Given the description of an element on the screen output the (x, y) to click on. 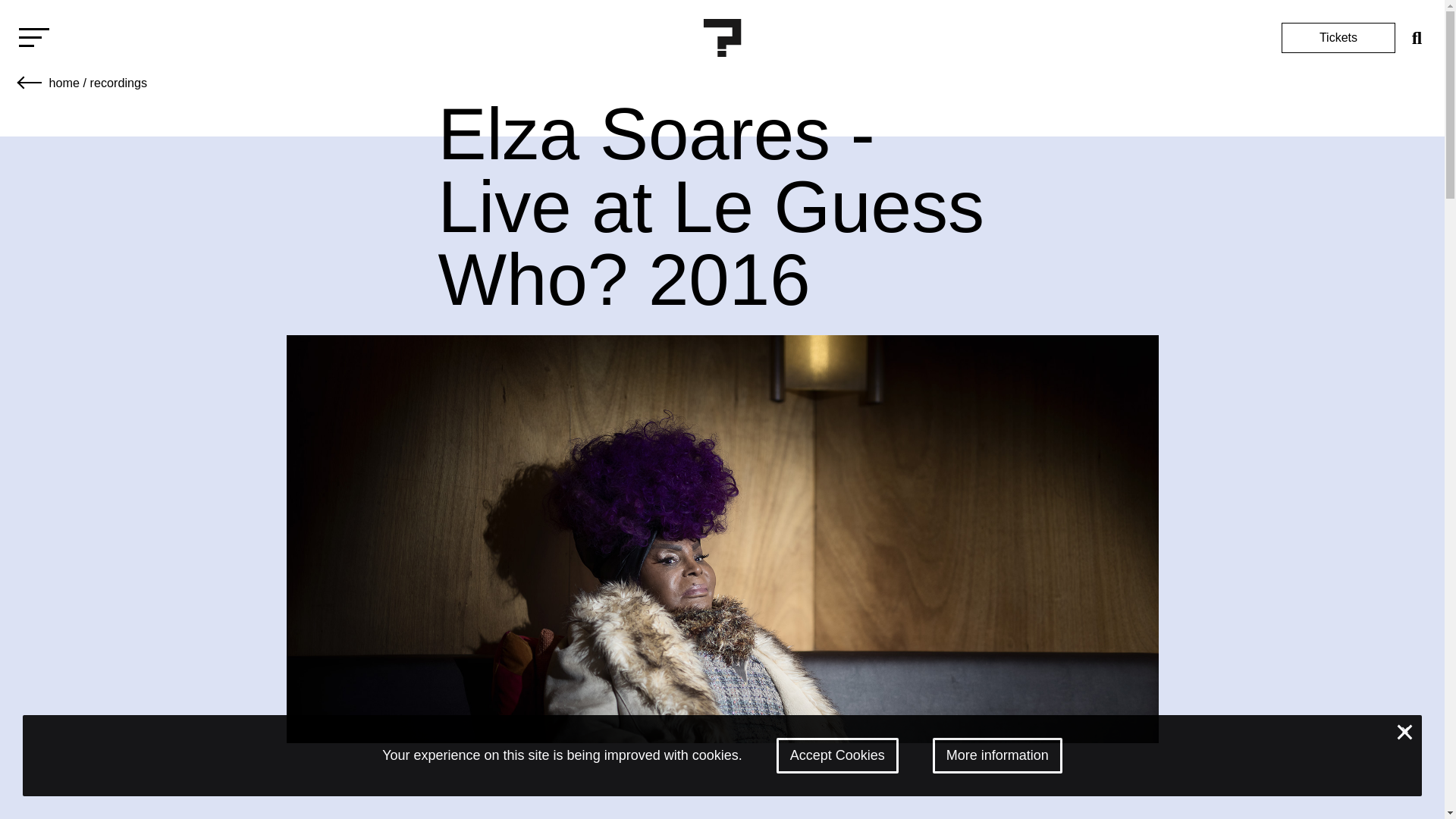
Tickets (1337, 37)
home (64, 82)
recordings (117, 82)
